Given the description of an element on the screen output the (x, y) to click on. 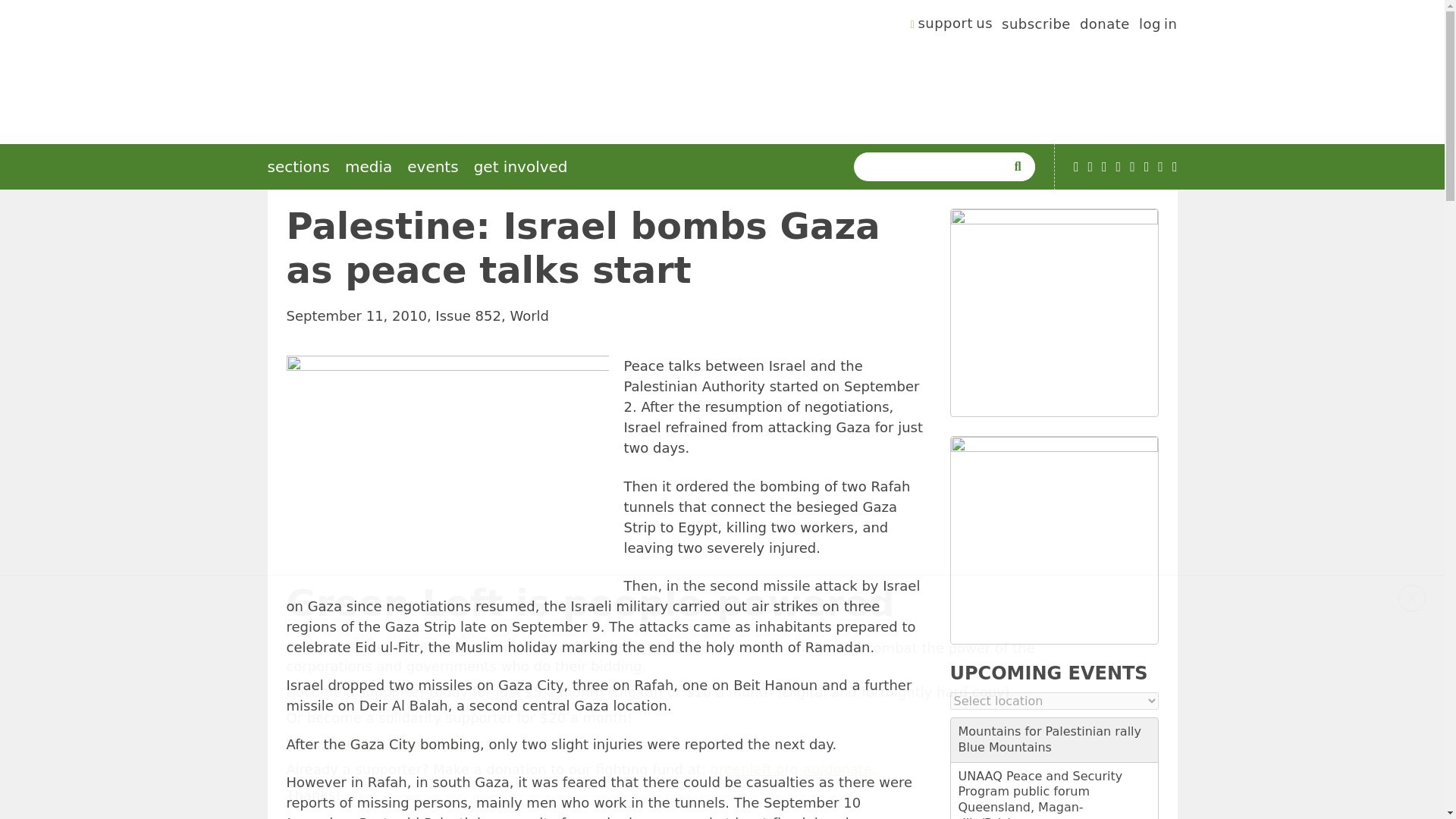
Enter the terms you wish to search for. (932, 166)
support us (951, 26)
subscribe (1035, 26)
events (432, 166)
donate (1104, 26)
log in (1157, 26)
